Given the description of an element on the screen output the (x, y) to click on. 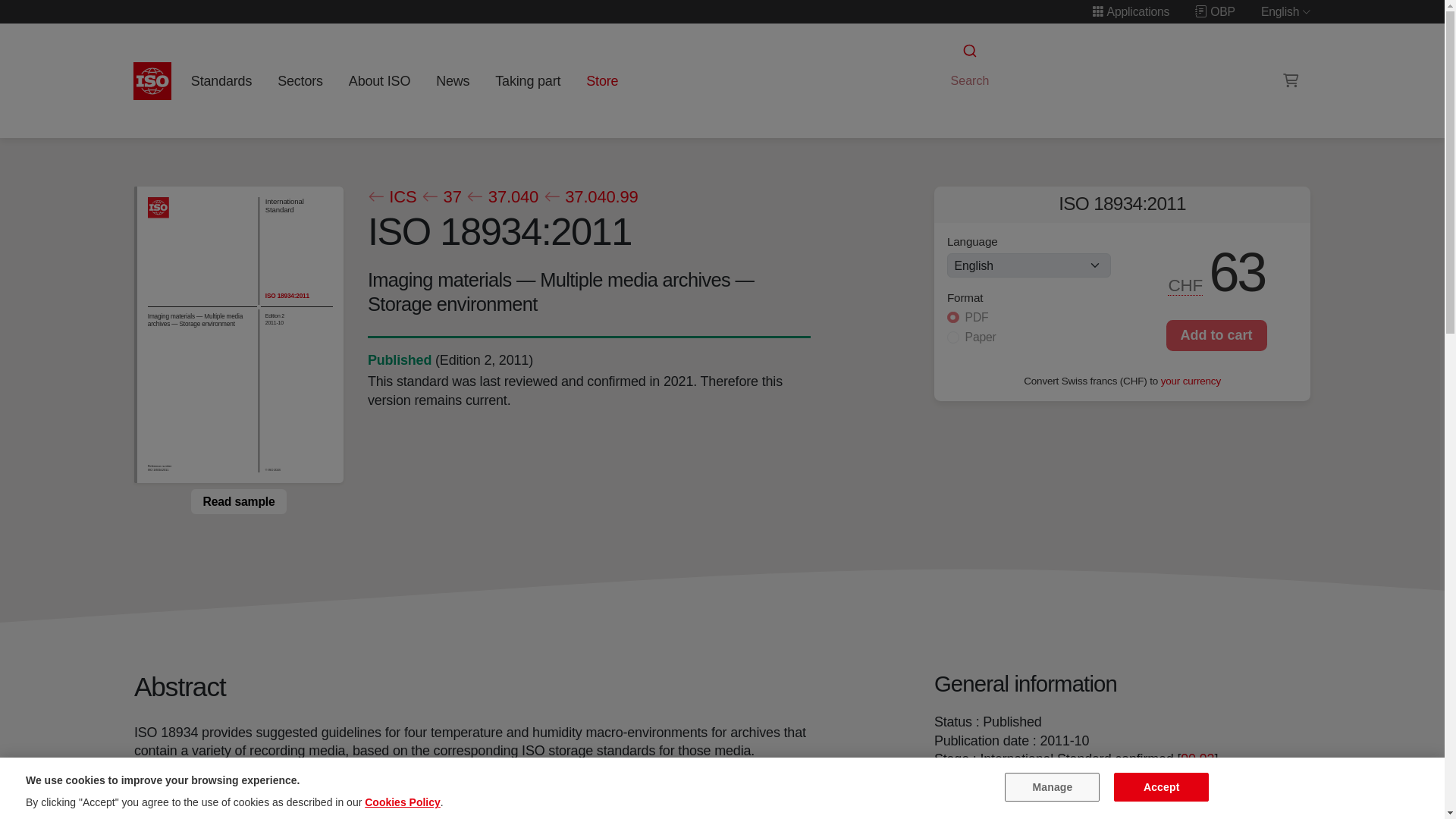
Add to cart (1216, 335)
Life cycle (398, 359)
About ISO (379, 80)
 OBP (1214, 11)
 Applications (1130, 11)
Read sample (237, 501)
ICS (391, 197)
37.040.99 (590, 197)
Submit (968, 51)
International Organization for Standardization (152, 80)
News (452, 80)
Swiss francs (1186, 285)
Online Browsing Platform (1214, 11)
90.93 (1197, 758)
